Given the description of an element on the screen output the (x, y) to click on. 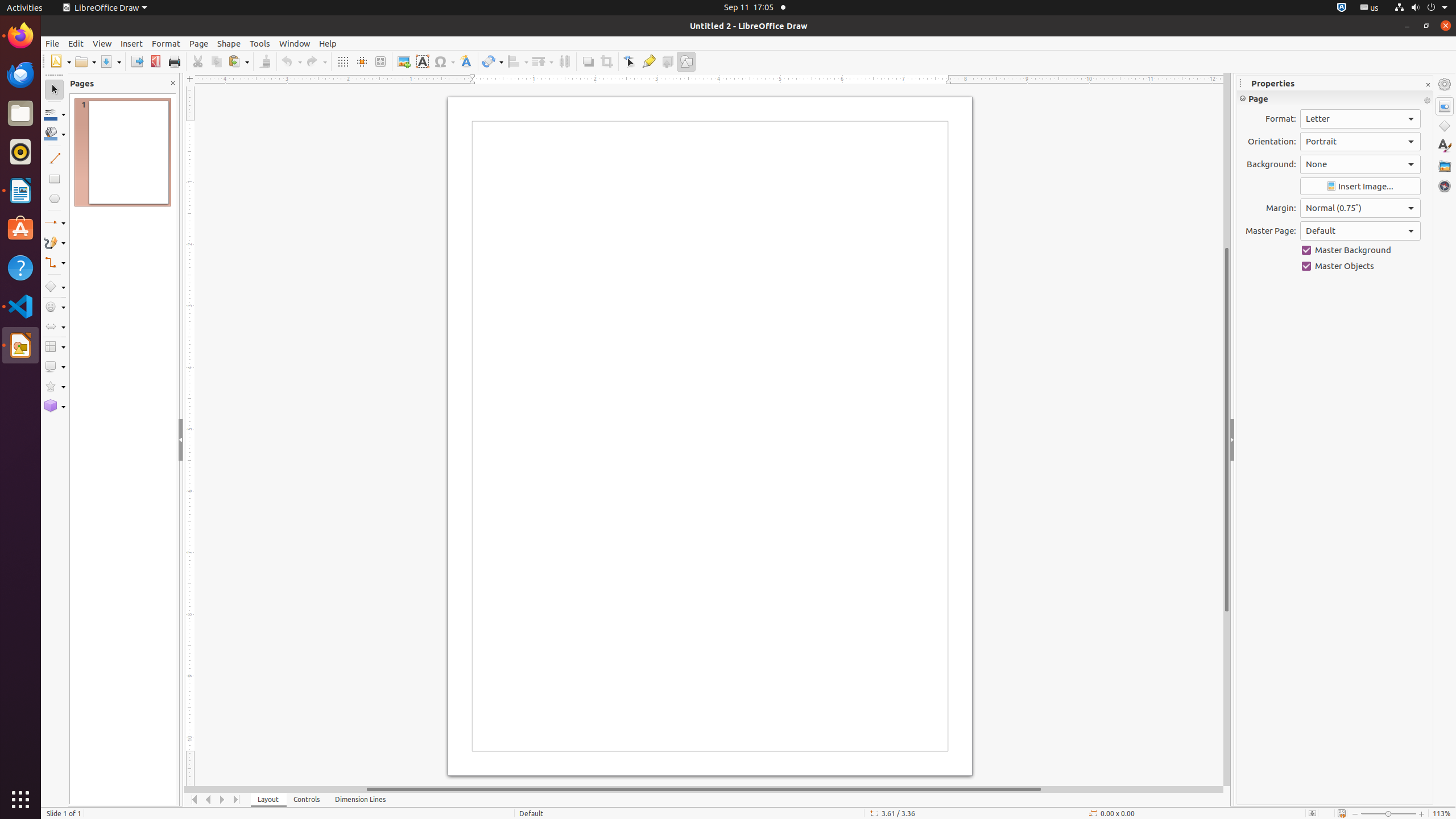
Move To End Element type: push-button (236, 799)
3D Objects Element type: push-button (54, 406)
Arrow Shapes Element type: push-button (54, 326)
Open Element type: push-button (84, 61)
Draw Functions Element type: toggle-button (685, 61)
